Given the description of an element on the screen output the (x, y) to click on. 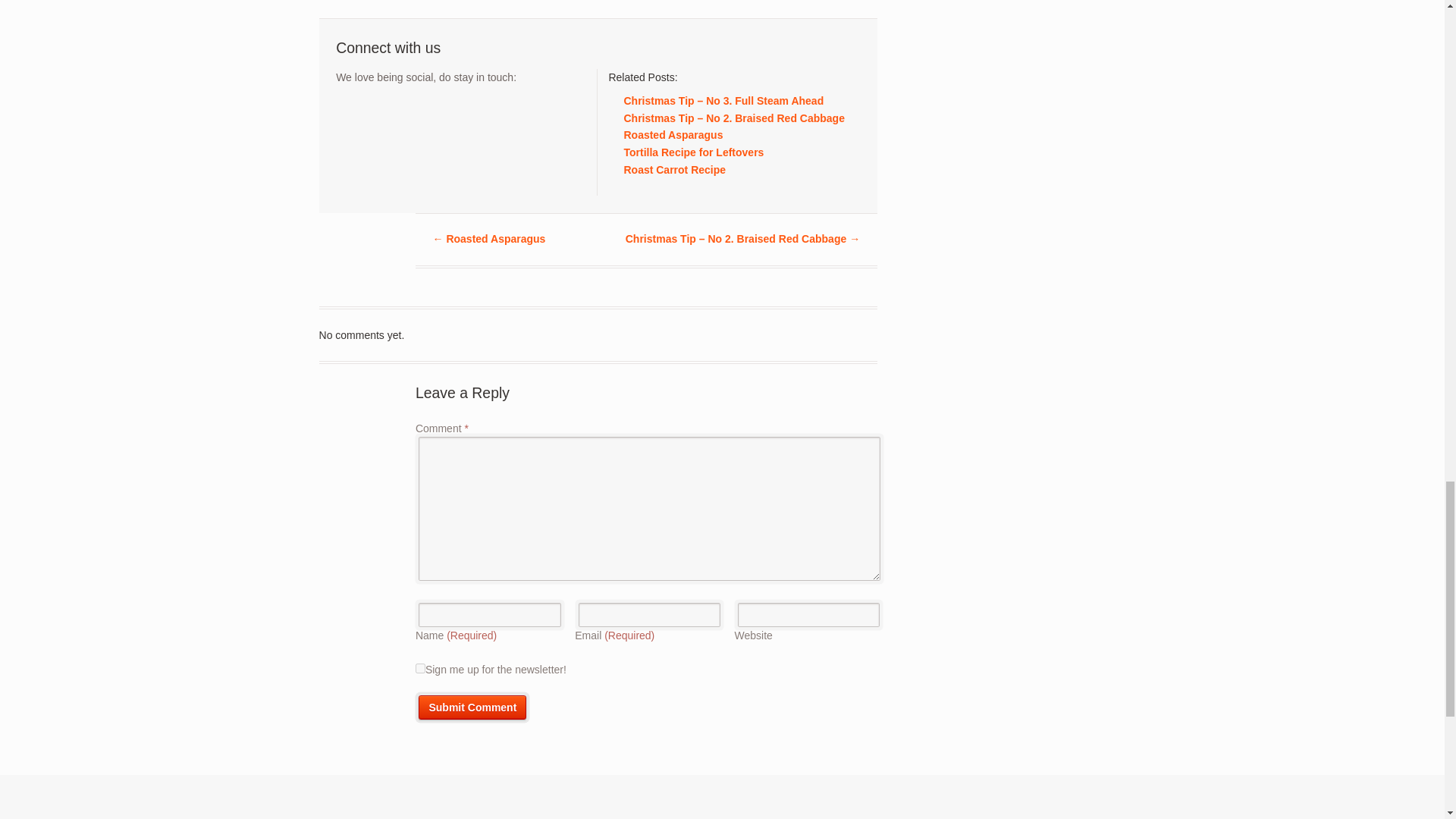
Tortilla Recipe for Leftovers (692, 152)
Facebook (374, 113)
Submit Comment (472, 707)
Roasted Asparagus (672, 134)
1 (419, 668)
Twitter (347, 113)
